Given the description of an element on the screen output the (x, y) to click on. 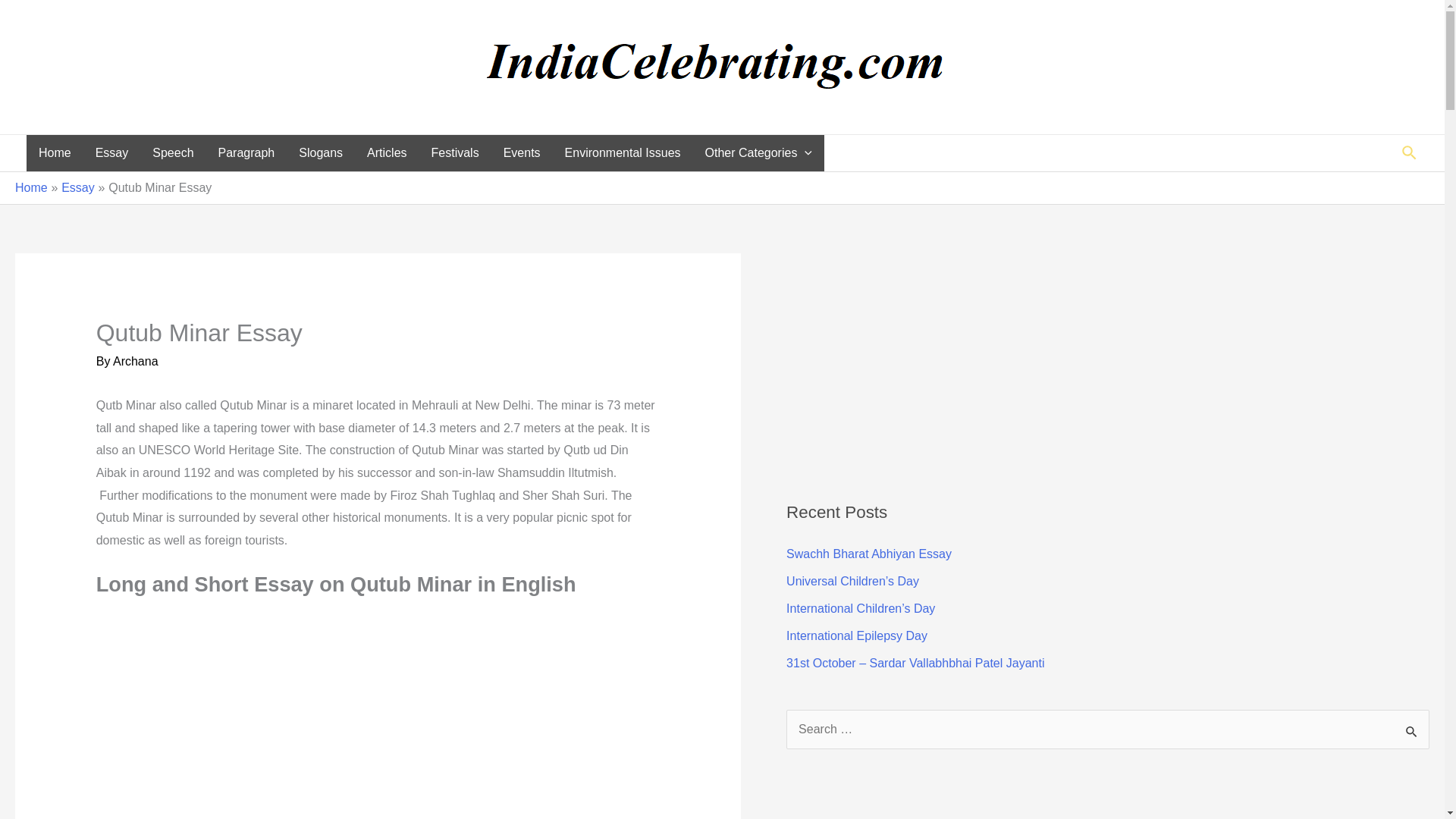
Slogans (320, 153)
Paragraph (246, 153)
Advertisement (378, 716)
Essay (111, 153)
Advertisement (928, 359)
Environmental Issues (623, 153)
Festivals (455, 153)
Events (522, 153)
Other Categories (758, 153)
Home (31, 187)
Home (54, 153)
View all posts by Archana (135, 360)
Speech (172, 153)
Archana (135, 360)
Advertisement (928, 800)
